Given the description of an element on the screen output the (x, y) to click on. 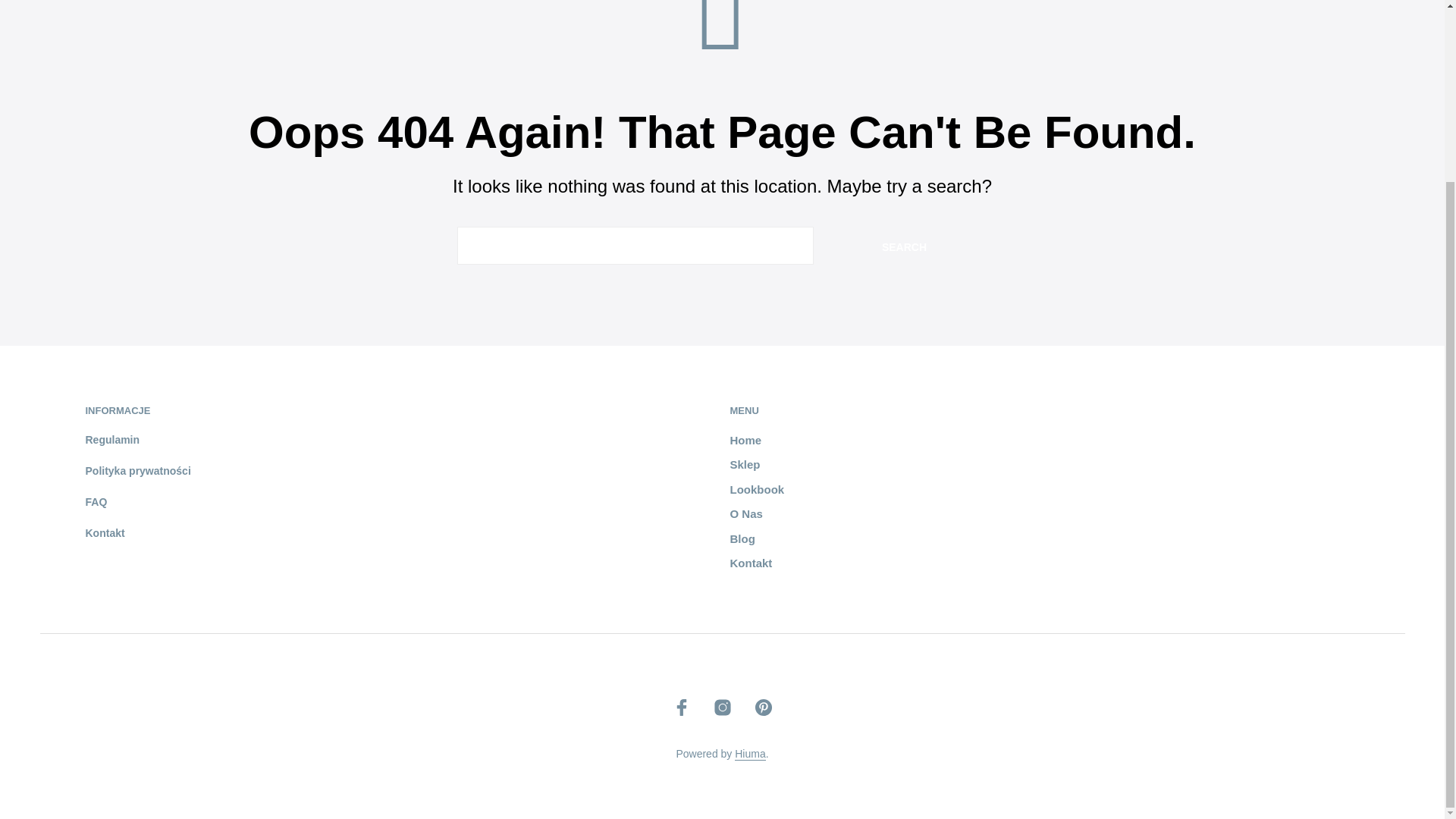
Search (904, 245)
Kontakt (750, 562)
FAQ (95, 501)
Hiuma (750, 754)
Search (904, 245)
Regulamin (111, 439)
Search (904, 245)
Home (745, 440)
Blog (741, 538)
O Nas (745, 513)
Hiuma beach goods (750, 754)
Sklep (744, 463)
Kontakt (103, 532)
Lookbook (756, 489)
